Given the description of an element on the screen output the (x, y) to click on. 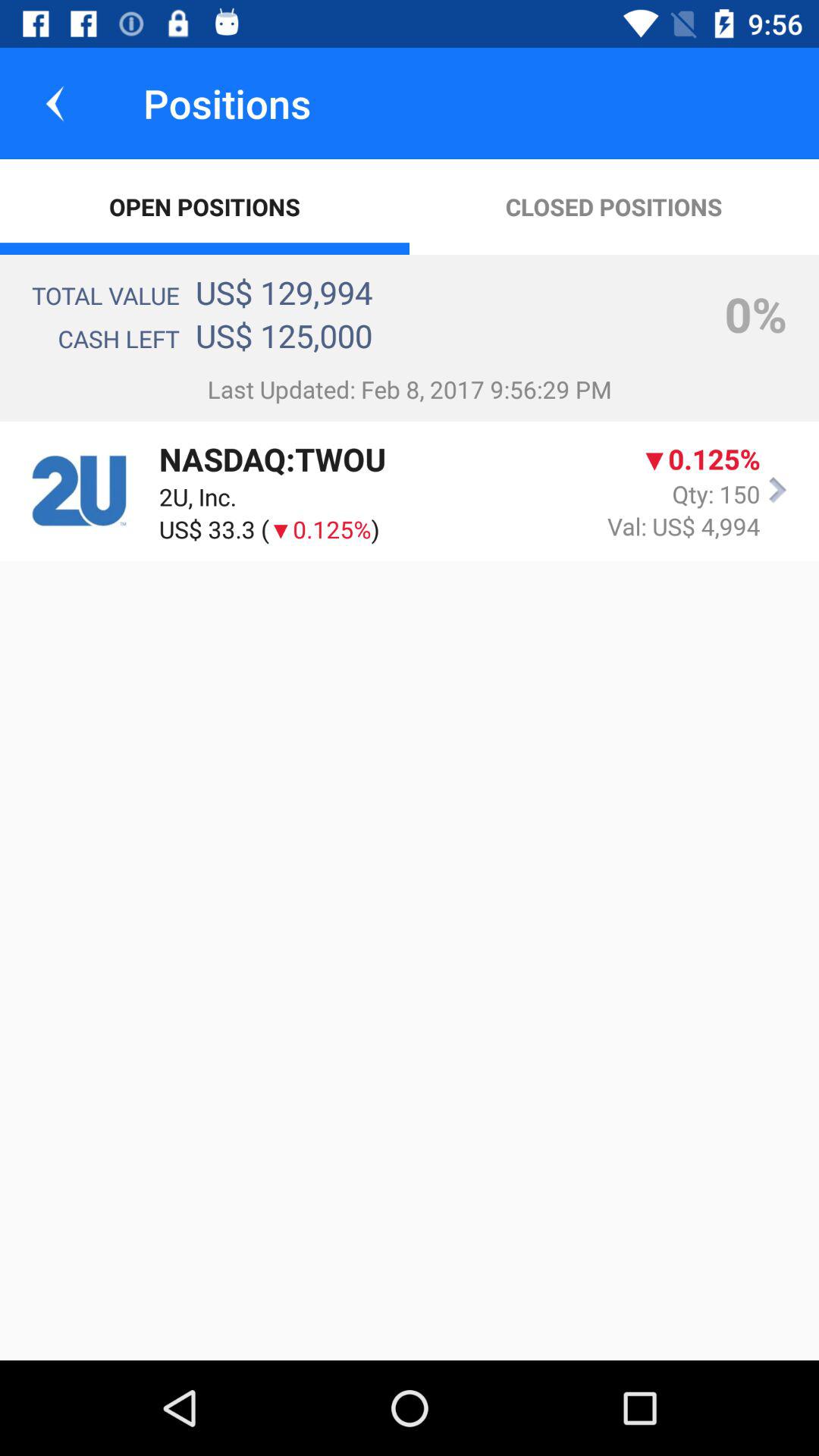
turn off item next to the positions (55, 103)
